Given the description of an element on the screen output the (x, y) to click on. 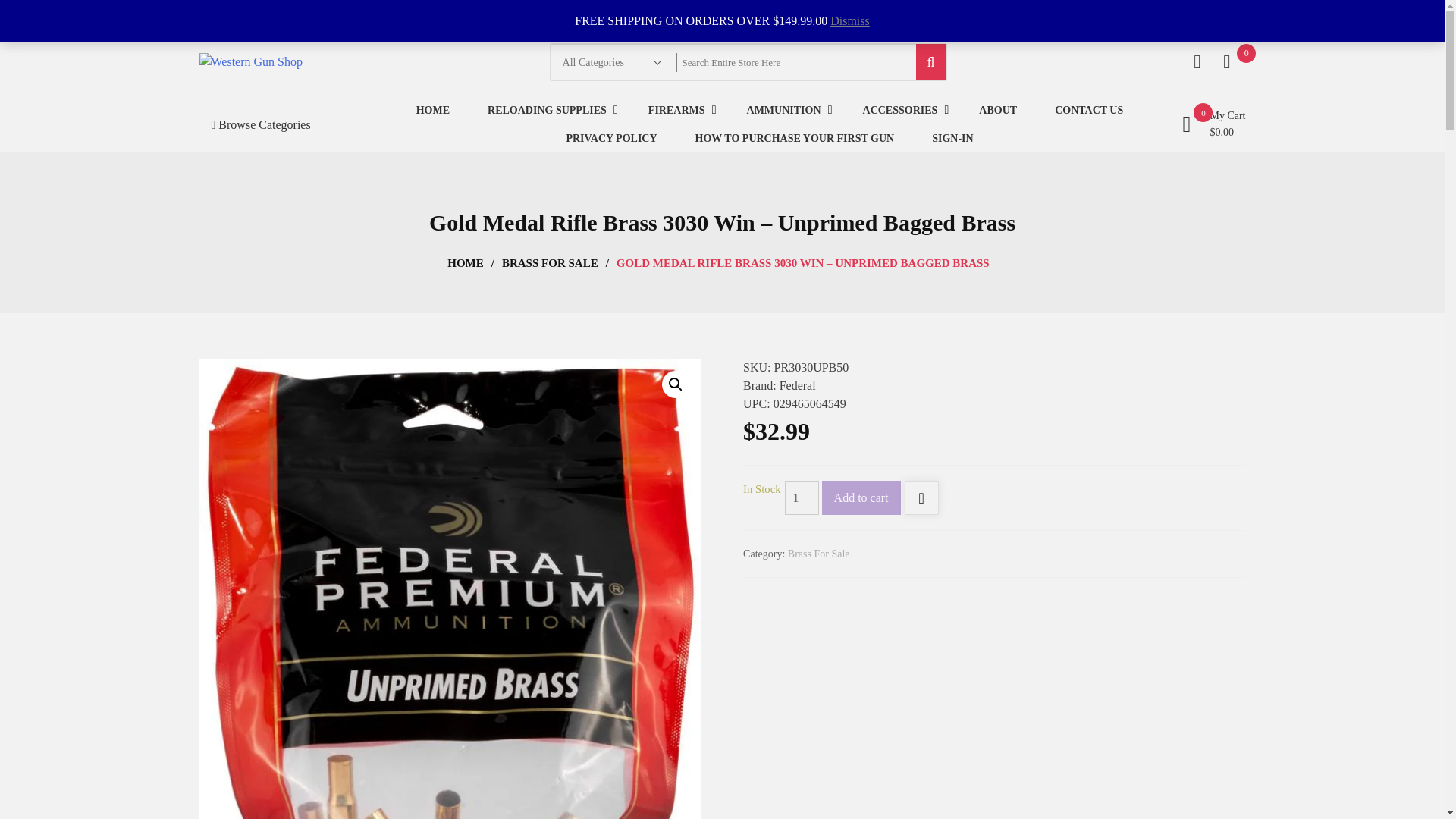
1 (801, 497)
Add to Wishlist (921, 499)
